Given the description of an element on the screen output the (x, y) to click on. 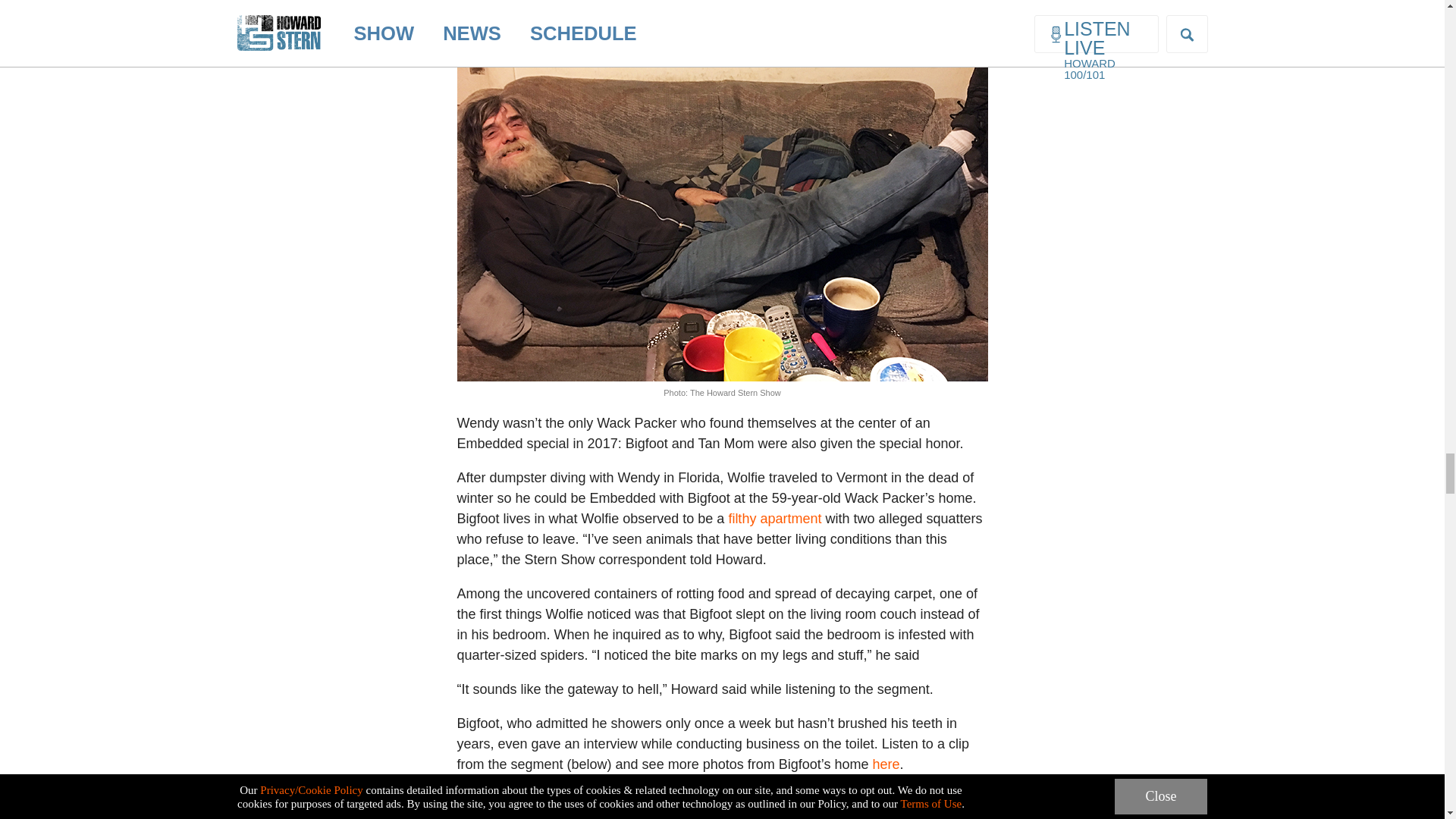
here (885, 764)
filthy apartment (774, 518)
